Given the description of an element on the screen output the (x, y) to click on. 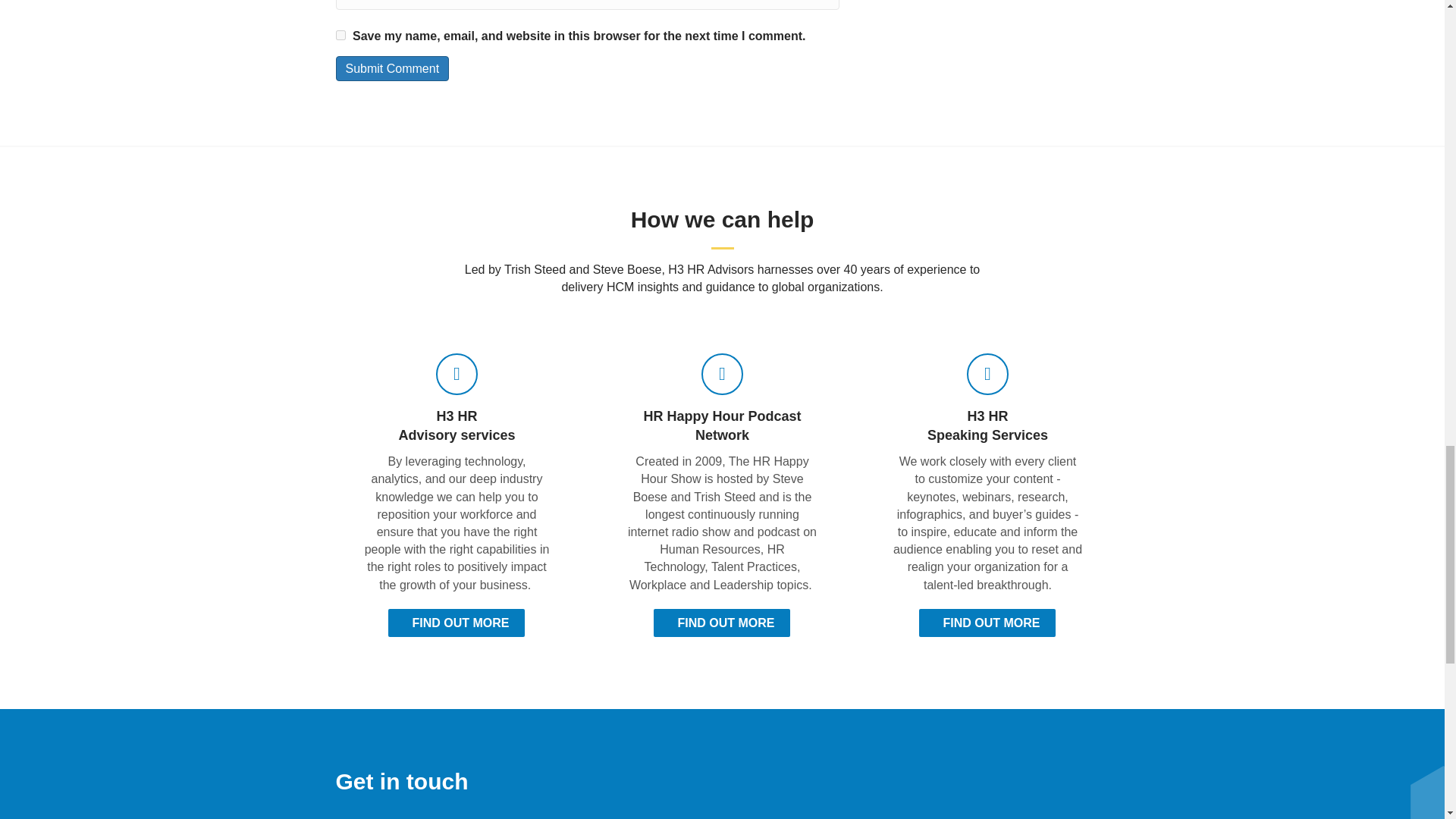
Submit Comment (391, 68)
yes (339, 35)
Submit Comment (391, 68)
